Given the description of an element on the screen output the (x, y) to click on. 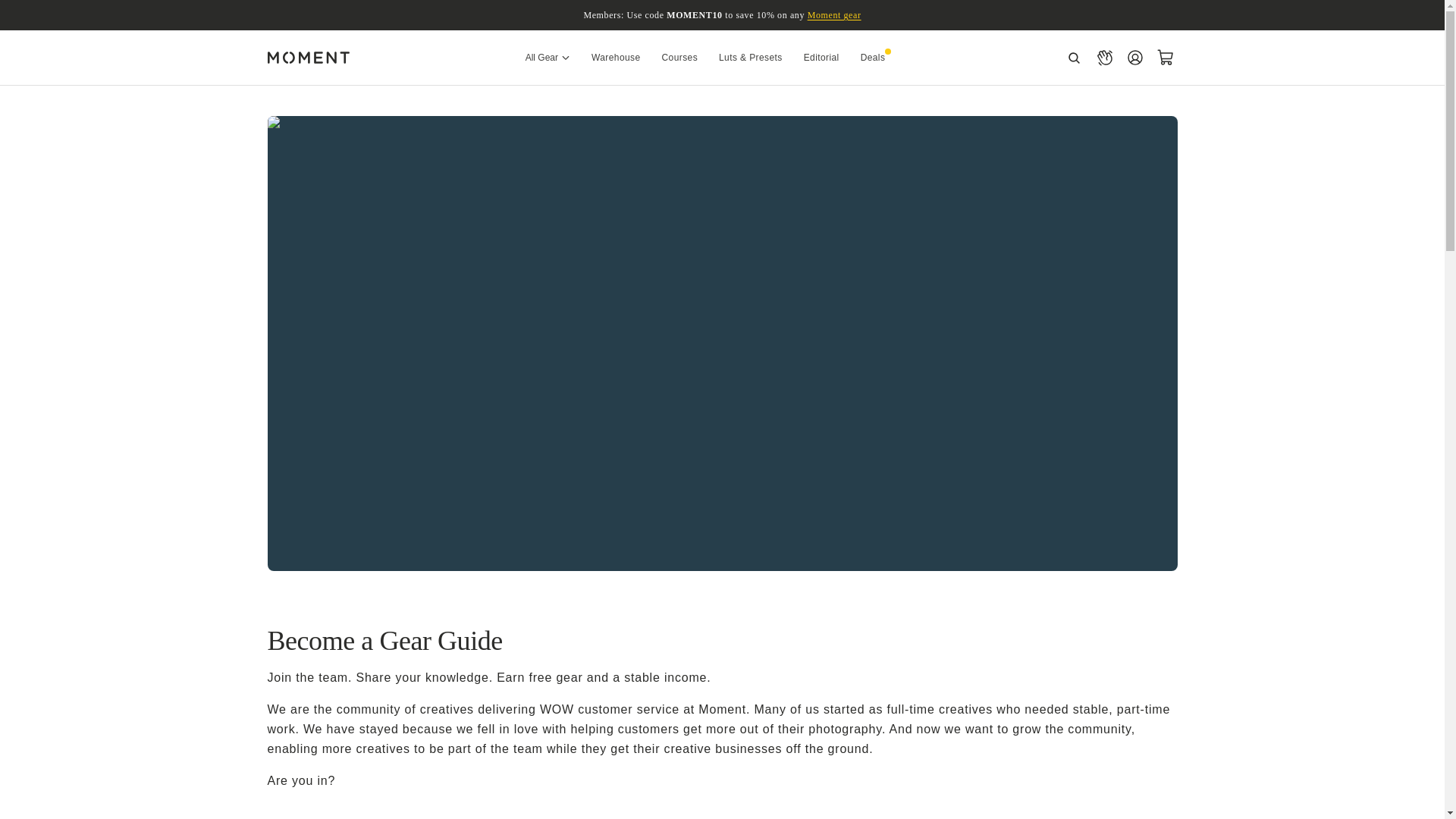
Editorial (821, 57)
Search (1073, 57)
Connect (1104, 57)
Deals (872, 57)
Cart: 0 items (1164, 57)
Login (1134, 57)
Moment gear (834, 14)
All Gear (547, 57)
Courses (679, 57)
Warehouse (615, 57)
